Given the description of an element on the screen output the (x, y) to click on. 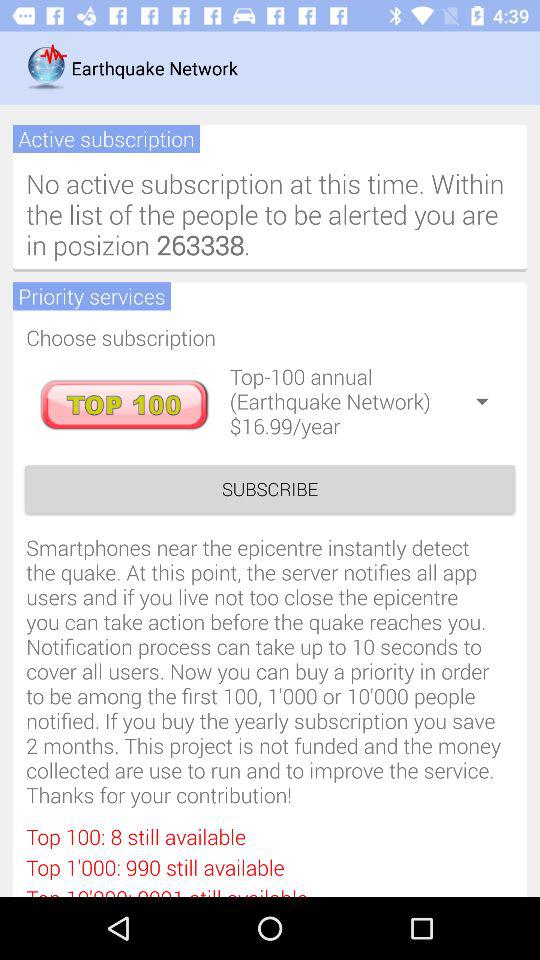
flip until subscribe (269, 488)
